Given the description of an element on the screen output the (x, y) to click on. 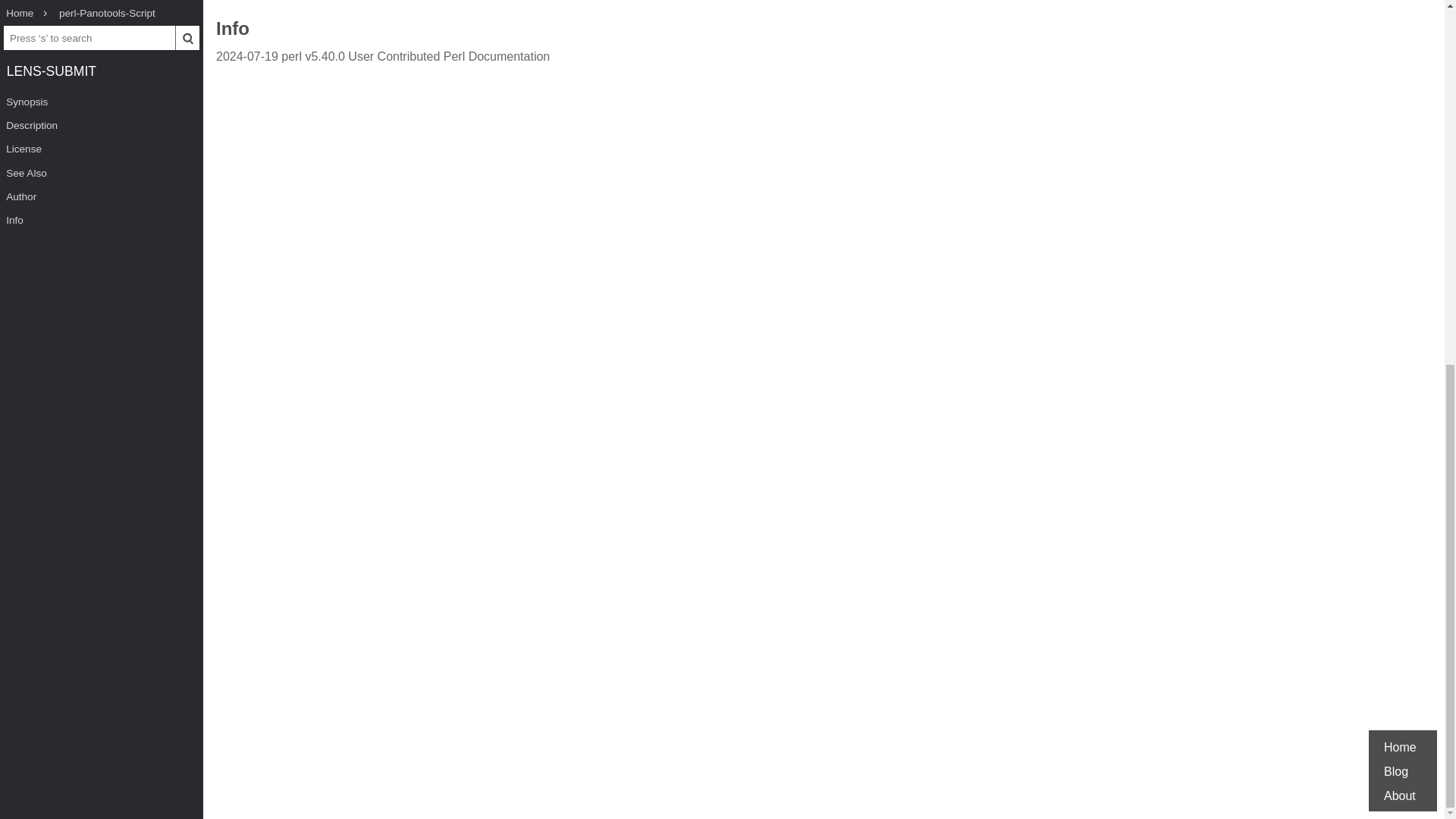
About (1399, 141)
Home (1400, 92)
Info (231, 30)
Blog (1395, 117)
